Given the description of an element on the screen output the (x, y) to click on. 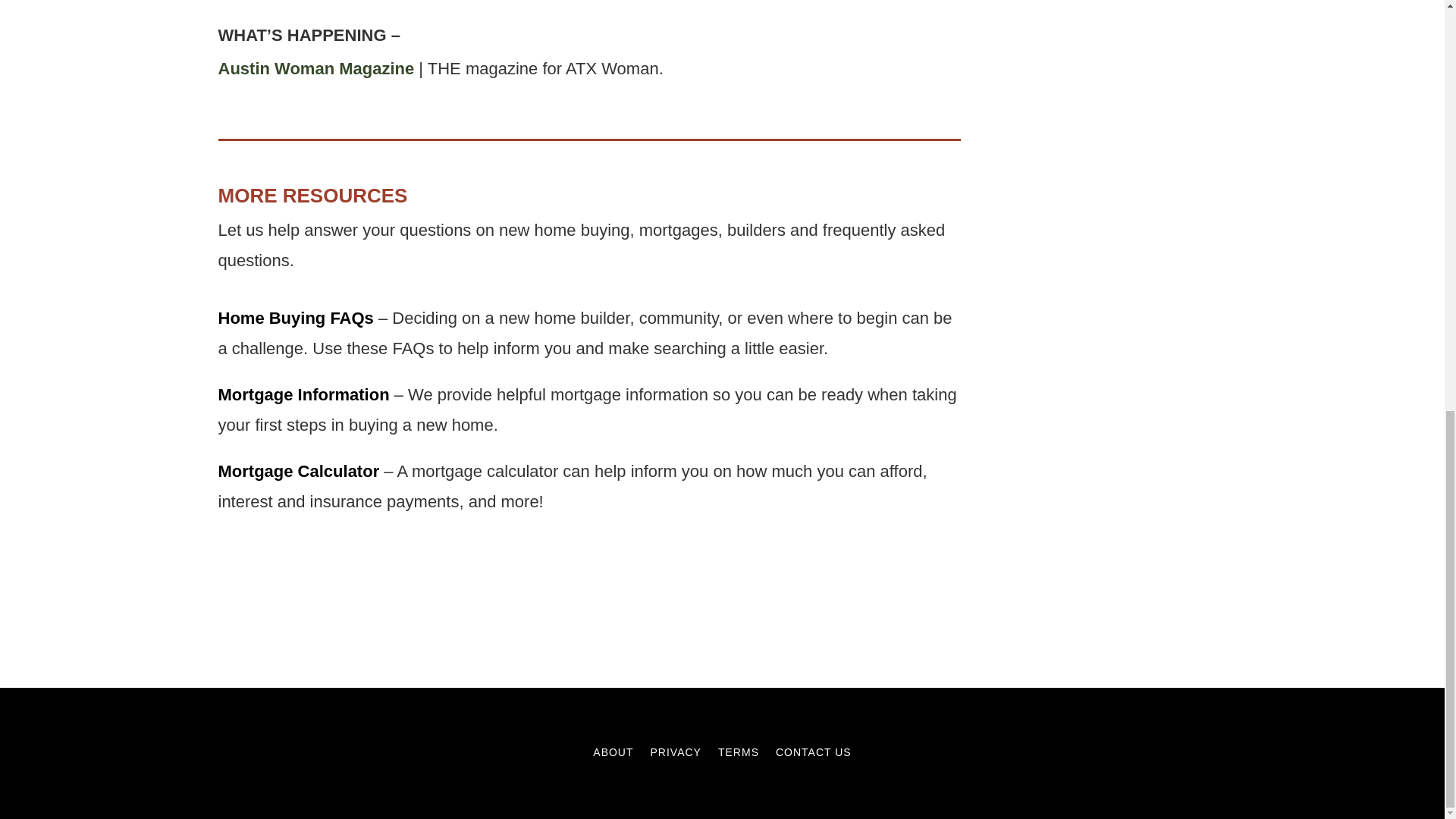
Mortgage Information (304, 394)
PRIVACY (675, 754)
Austin Woman Magazine (316, 67)
ABOUT (612, 754)
Mortgage Calculator (299, 470)
CONTACT US (813, 754)
Home Buying FAQs (296, 317)
TERMS (737, 754)
